Given the description of an element on the screen output the (x, y) to click on. 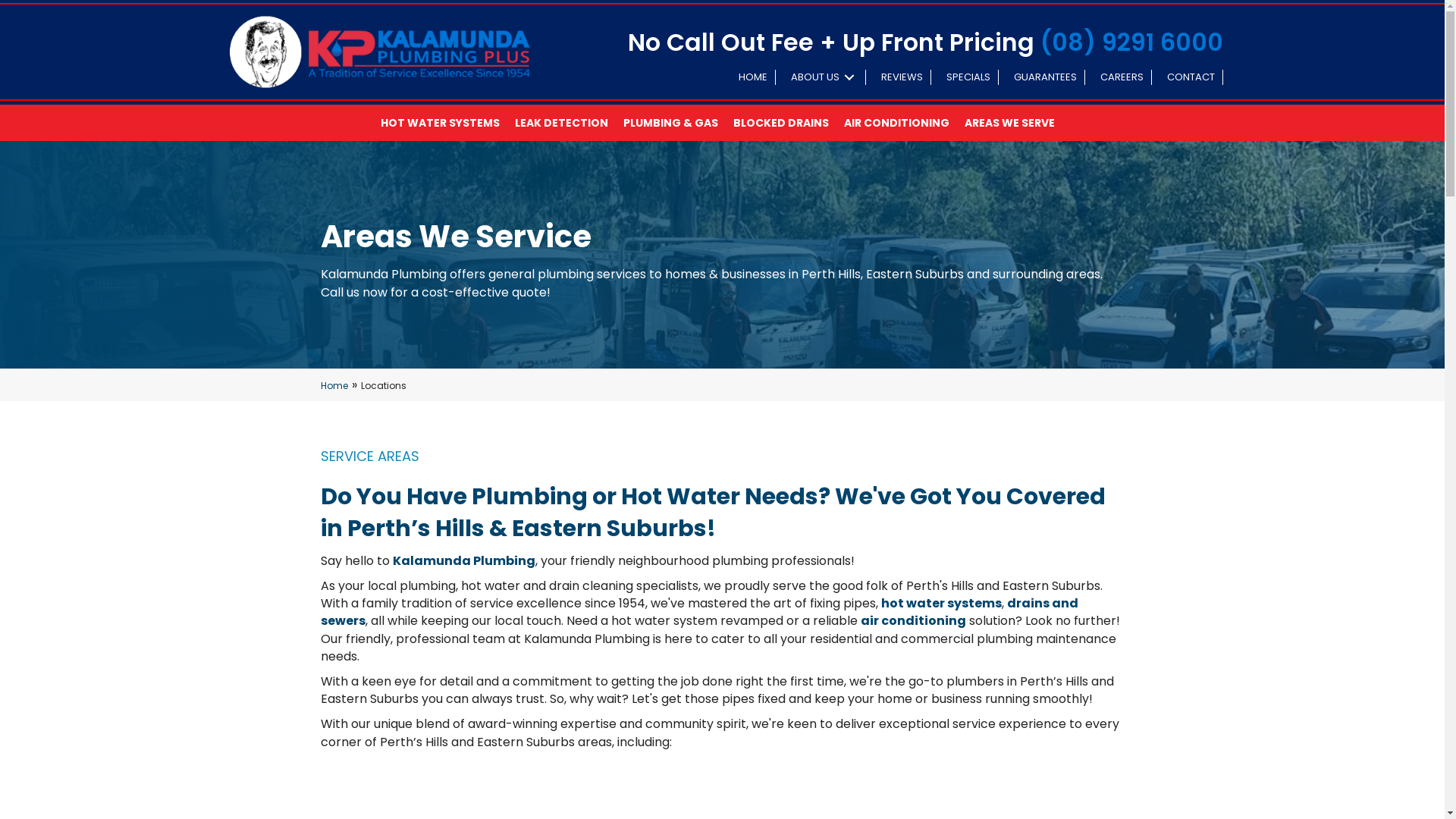
KP - Updated Logo (1) Element type: hover (378, 51)
air conditioning Element type: text (912, 620)
BLOCKED DRAINS Element type: text (787, 122)
Home Element type: text (333, 385)
REVIEWS Element type: text (902, 77)
GUARANTEES Element type: text (1044, 77)
No Call Out Fee + Up Front Pricing (08) 9291 6000 Element type: text (925, 42)
ABOUT US Element type: text (823, 77)
CAREERS Element type: text (1121, 77)
hot water systems Element type: text (941, 602)
AIR CONDITIONING Element type: text (903, 122)
HOME Element type: text (753, 77)
PLUMBING & GAS Element type: text (678, 122)
SPECIALS Element type: text (968, 77)
CONTACT Element type: text (1190, 77)
HOT WATER SYSTEMS Element type: text (447, 122)
LEAK DETECTION Element type: text (568, 122)
Kalamunda Plumbing Element type: text (463, 560)
AREAS WE SERVE Element type: text (1017, 122)
drains and sewers Element type: text (698, 611)
